Given the description of an element on the screen output the (x, y) to click on. 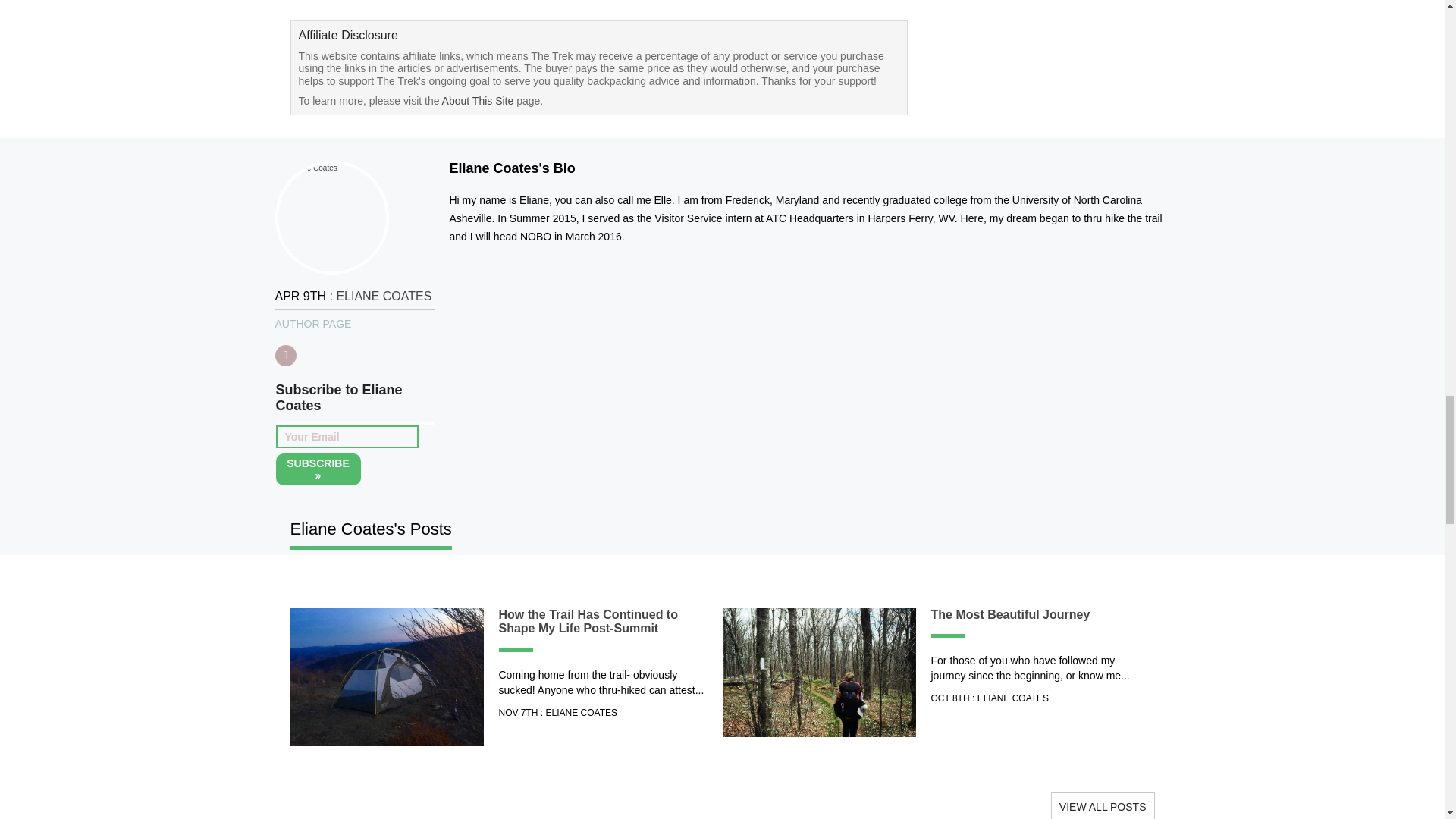
Sign Up (318, 469)
